Given the description of an element on the screen output the (x, y) to click on. 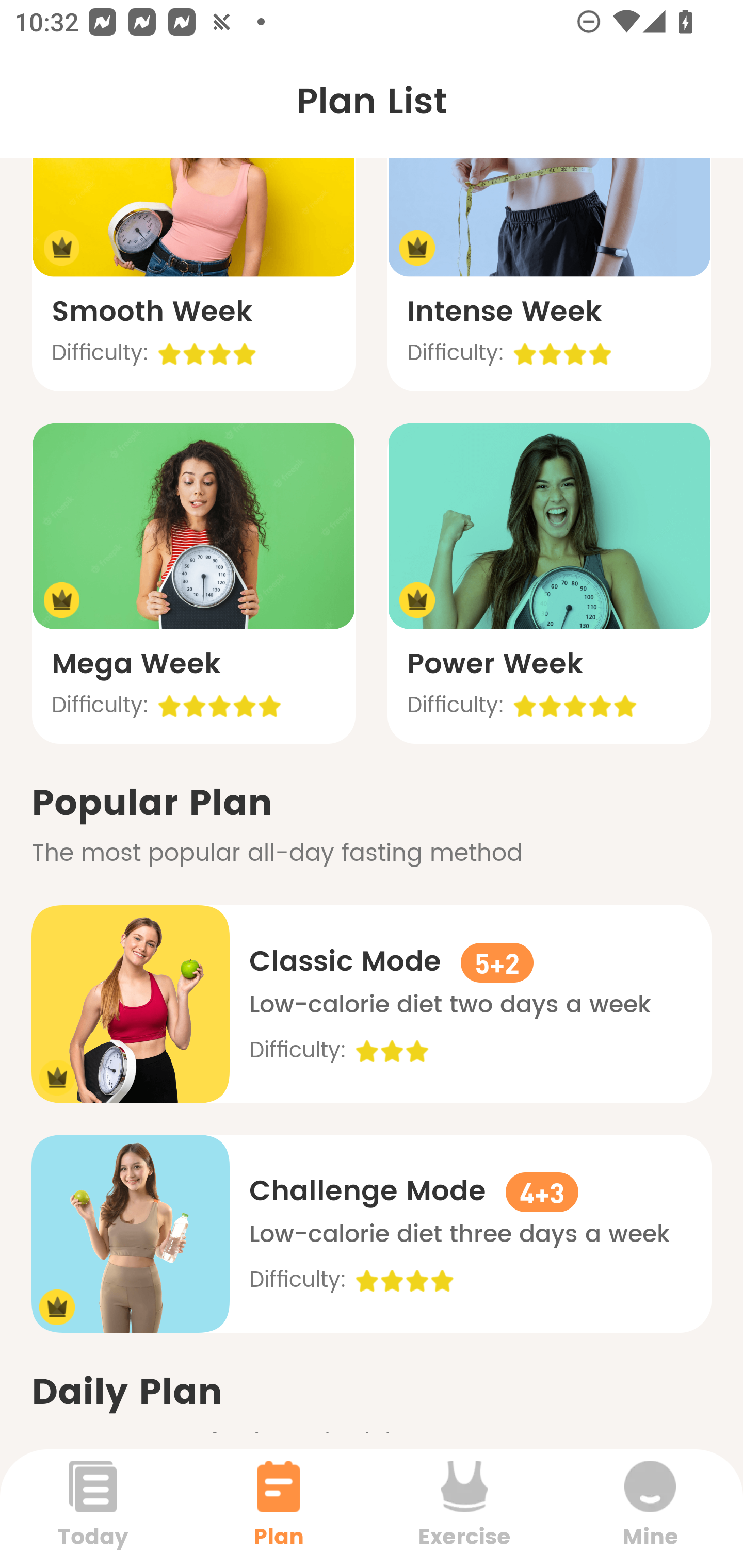
Smooth Week Difficulty: 4.0 (193, 231)
Intense Week Difficulty: 4.0 (549, 231)
Mega Week Difficulty: 5.0 (193, 583)
Power Week Difficulty: 5.0 (549, 583)
Today (92, 1508)
Exercise (464, 1508)
Mine (650, 1508)
